Given the description of an element on the screen output the (x, y) to click on. 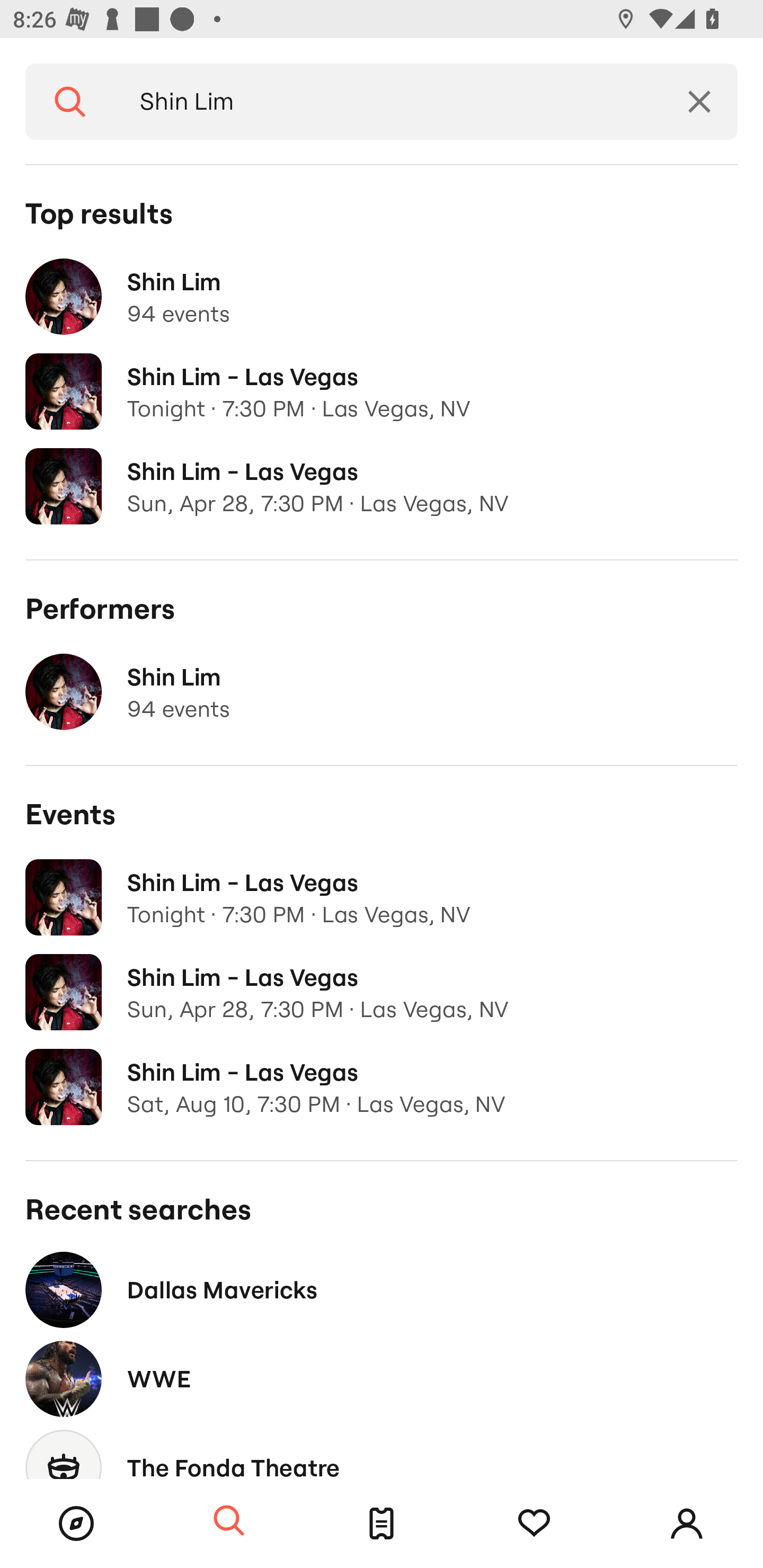
Search (69, 101)
Shin Lim (387, 101)
Clear (699, 101)
Shin Lim 94 events (381, 296)
Shin Lim 94 events (381, 692)
Dallas Mavericks (381, 1289)
WWE (381, 1378)
The Fonda Theatre (381, 1450)
Browse (76, 1523)
Search (228, 1521)
Tickets (381, 1523)
Tracking (533, 1523)
Account (686, 1523)
